Given the description of an element on the screen output the (x, y) to click on. 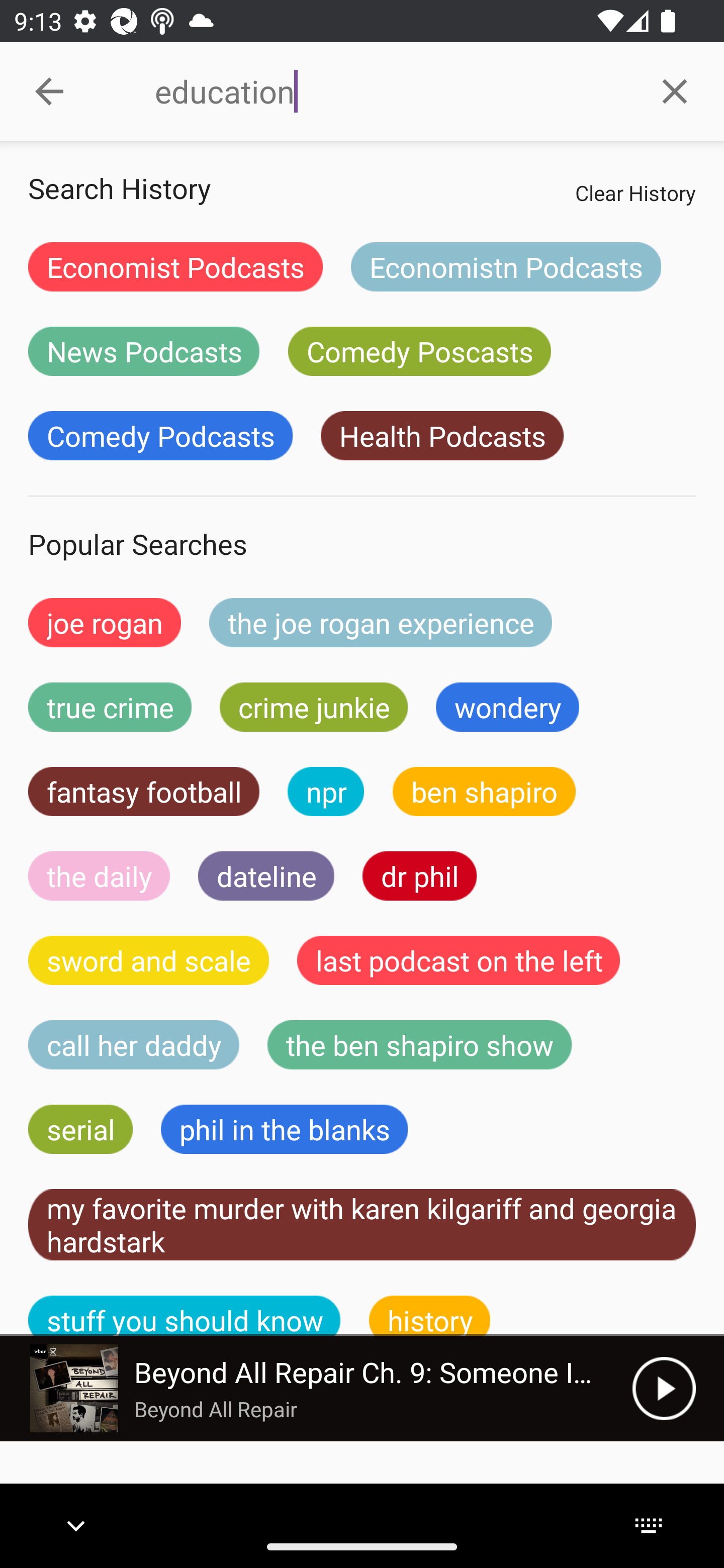
Collapse (49, 91)
Clear query (674, 90)
education (389, 91)
Clear History (634, 192)
Economist Podcasts (175, 266)
Economistn Podcasts (506, 266)
News Podcasts (143, 351)
Comedy Poscasts (419, 351)
Comedy Podcasts (160, 435)
Health Podcasts (441, 435)
joe rogan (104, 622)
the joe rogan experience (380, 622)
true crime (109, 707)
crime junkie (313, 707)
wondery (507, 707)
fantasy football (143, 791)
npr (325, 791)
ben shapiro (483, 791)
the daily (99, 875)
dateline (266, 875)
dr phil (419, 875)
sword and scale (148, 960)
last podcast on the left (458, 960)
call her daddy (133, 1044)
the ben shapiro show (419, 1044)
serial (80, 1128)
phil in the blanks (283, 1128)
stuff you should know (184, 1315)
history (429, 1315)
Play (663, 1388)
